Given the description of an element on the screen output the (x, y) to click on. 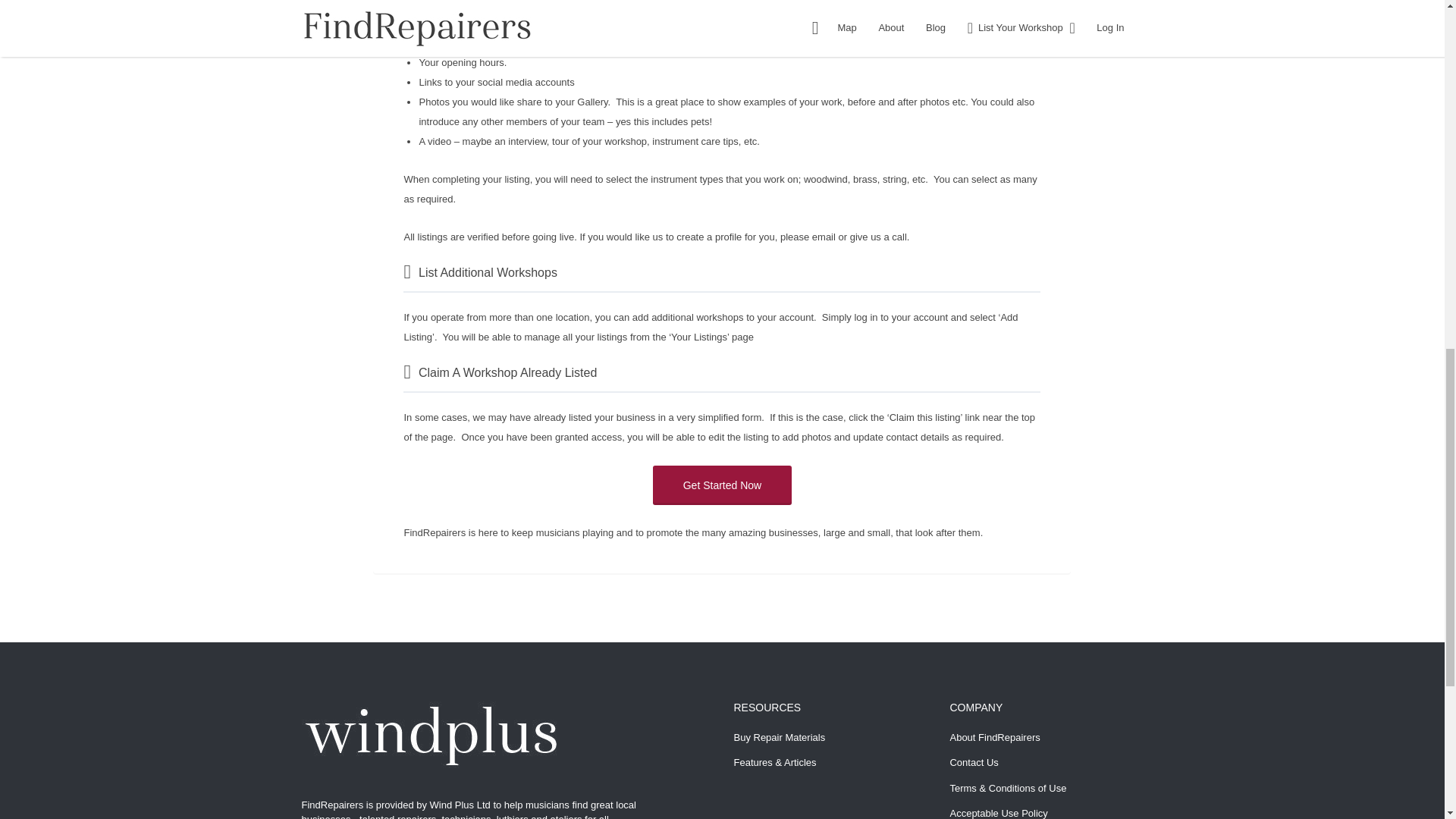
Get Started Now (722, 485)
Contact Us (973, 762)
About FindRepairers (994, 737)
Buy Repair Materials (779, 737)
Acceptable Use Policy (997, 813)
